Given the description of an element on the screen output the (x, y) to click on. 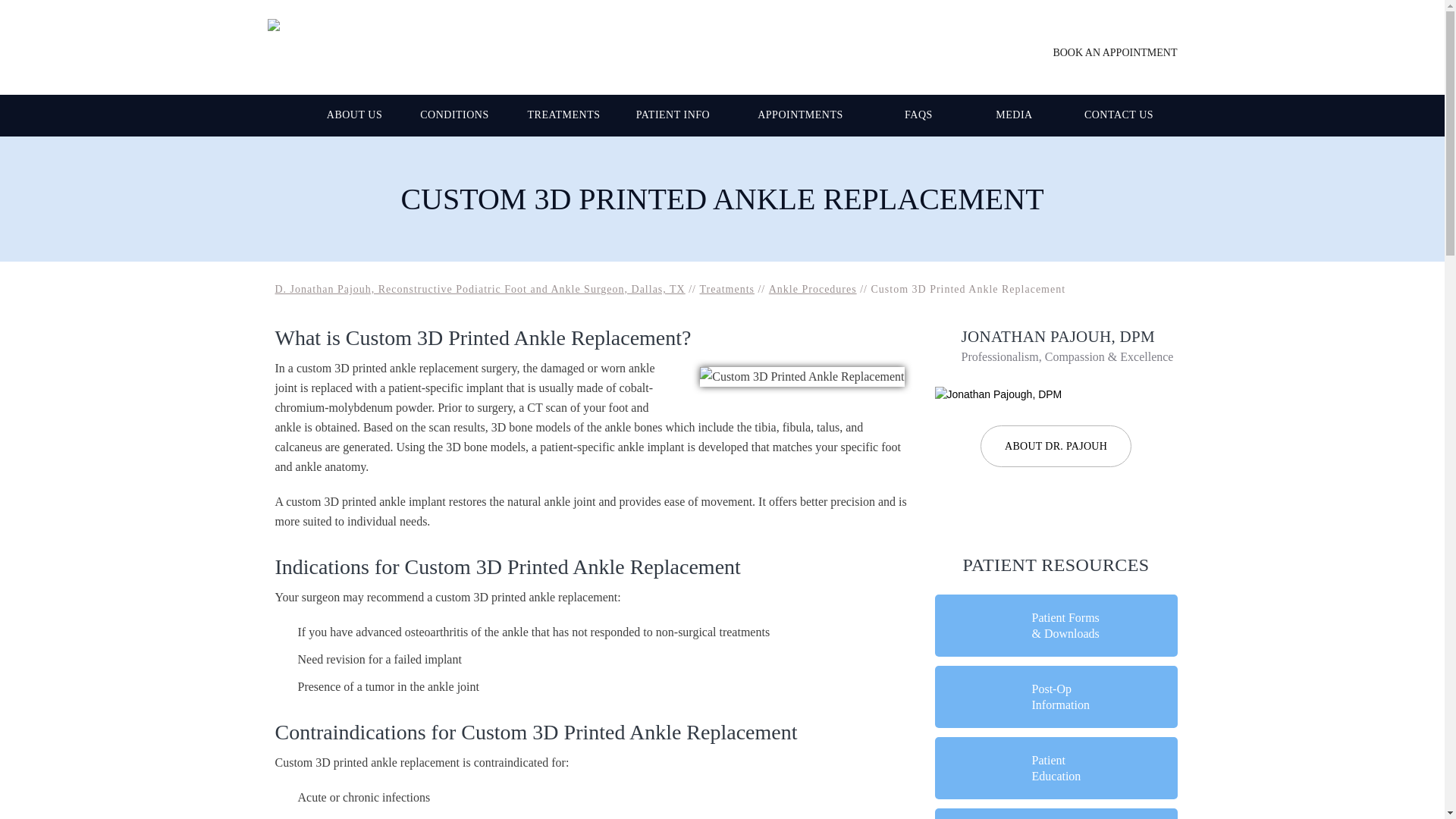
TREATMENTS (563, 115)
CONDITIONS (454, 115)
HOME (289, 115)
PATIENT INFO (673, 115)
ABOUT US (354, 115)
APPOINTMENTS (800, 115)
BOOK AN APPOINTMENT (1104, 52)
